Given the description of an element on the screen output the (x, y) to click on. 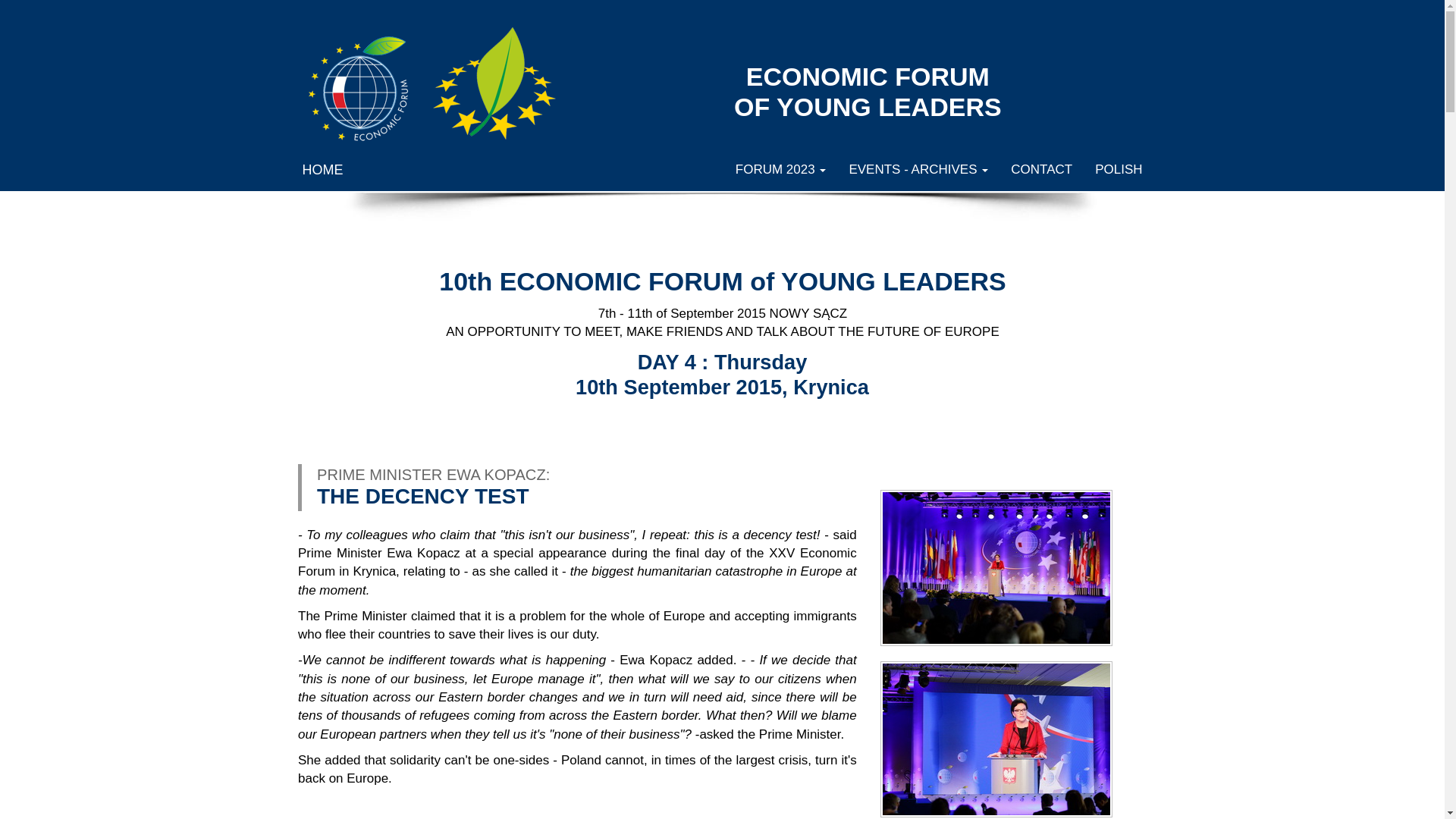
FORUM 2015 (996, 567)
HOME (323, 169)
FORUM 2015 (996, 739)
FORUM 2023 (780, 169)
EVENTS - ARCHIVES (917, 169)
